Given the description of an element on the screen output the (x, y) to click on. 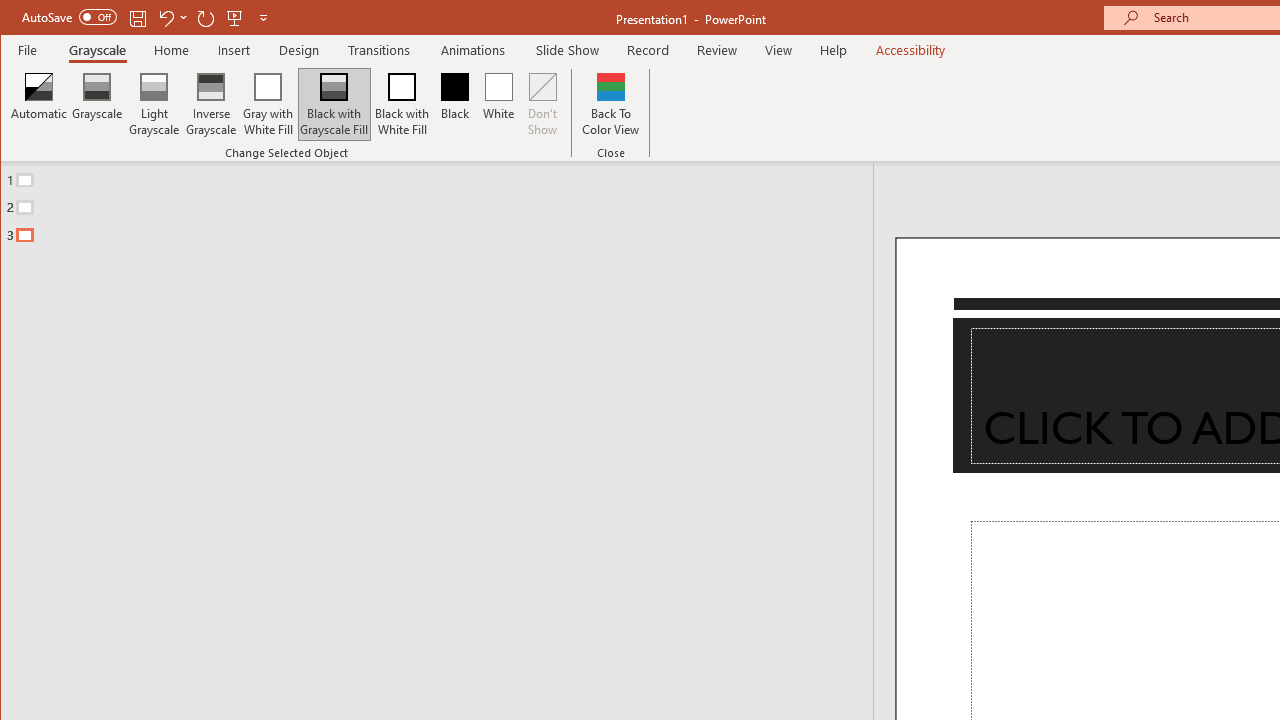
Inverse Grayscale (211, 104)
Gray with White Fill (267, 104)
Don't Show (543, 104)
Grayscale (97, 50)
